Given the description of an element on the screen output the (x, y) to click on. 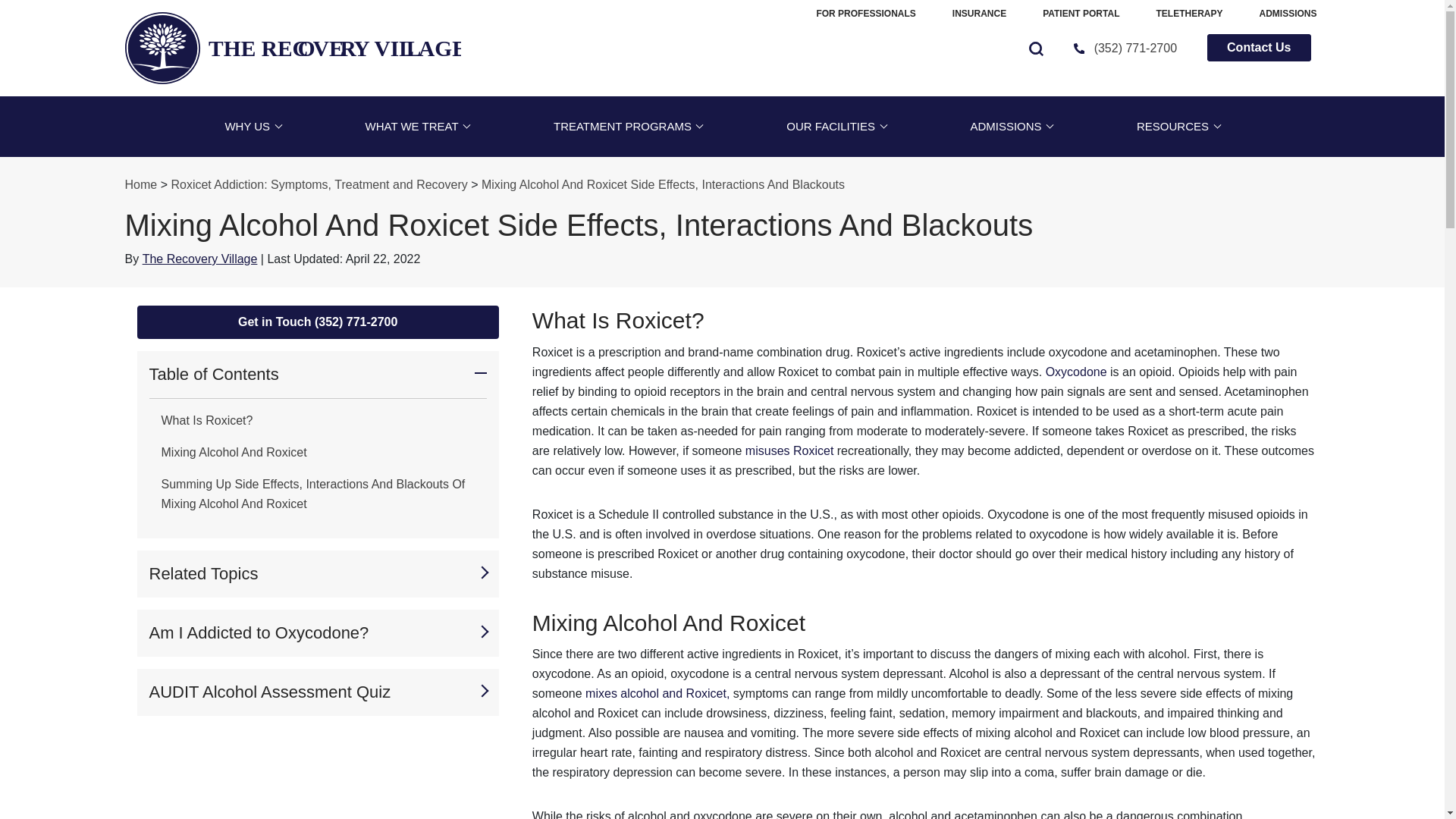
INSURANCE (292, 48)
TELETHERAPY (979, 13)
WHAT WE TREAT (1189, 13)
PATIENT PORTAL (417, 126)
Learn More (291, 48)
ADMISSIONS (1080, 13)
TREATMENT PROGRAMS (874, 120)
The Recovery Village Drug and Alcohol Rehab (1287, 13)
ADMISSIONS (627, 126)
WHY US (292, 48)
WHAT WE TREAT (1287, 13)
Search (252, 126)
Contact Us (417, 126)
